Given the description of an element on the screen output the (x, y) to click on. 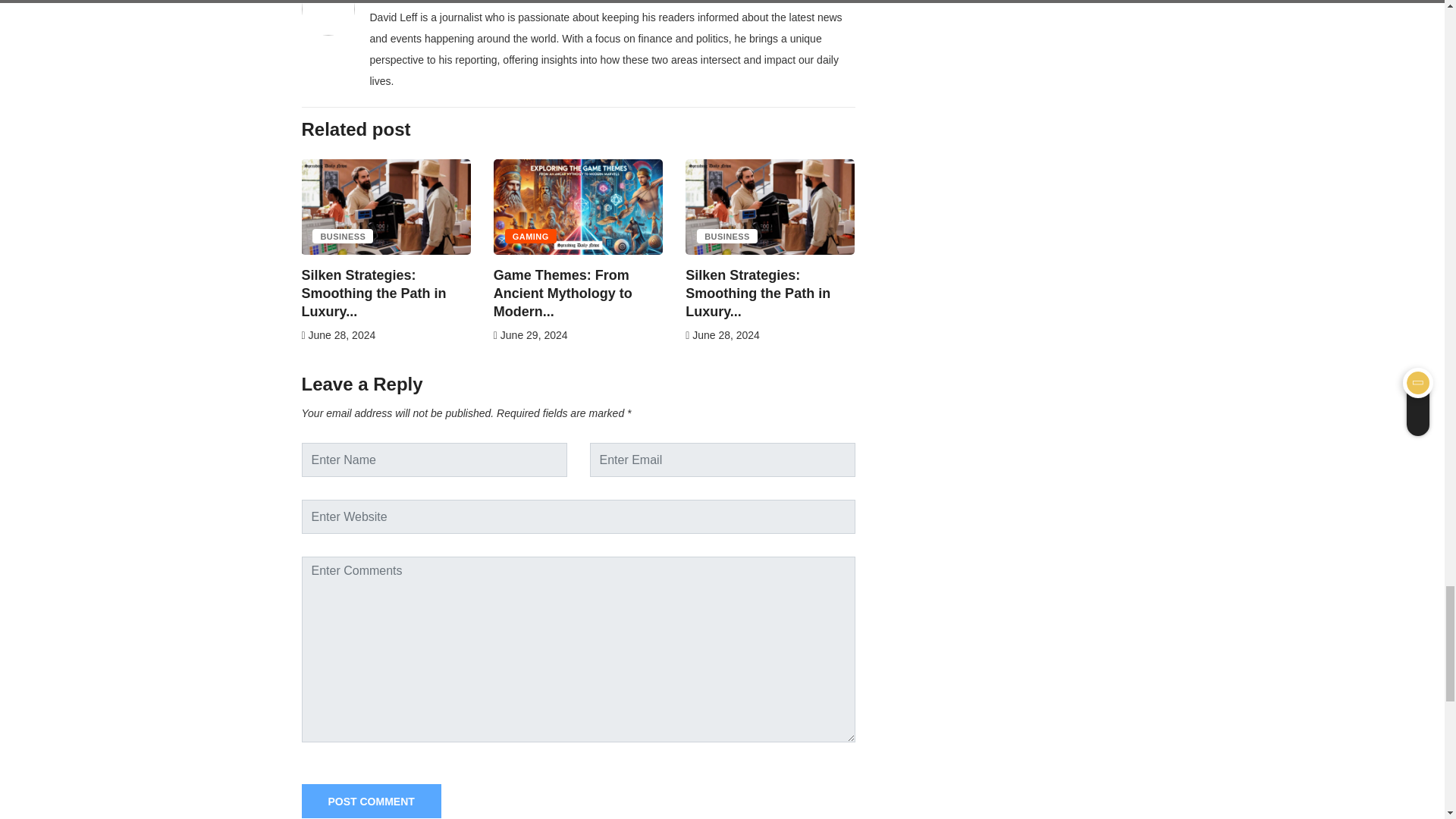
Silken Strategies: Smoothing the Path in Luxury... (373, 293)
BUSINESS (342, 236)
Post Comment (371, 800)
GAMING (530, 236)
